Given the description of an element on the screen output the (x, y) to click on. 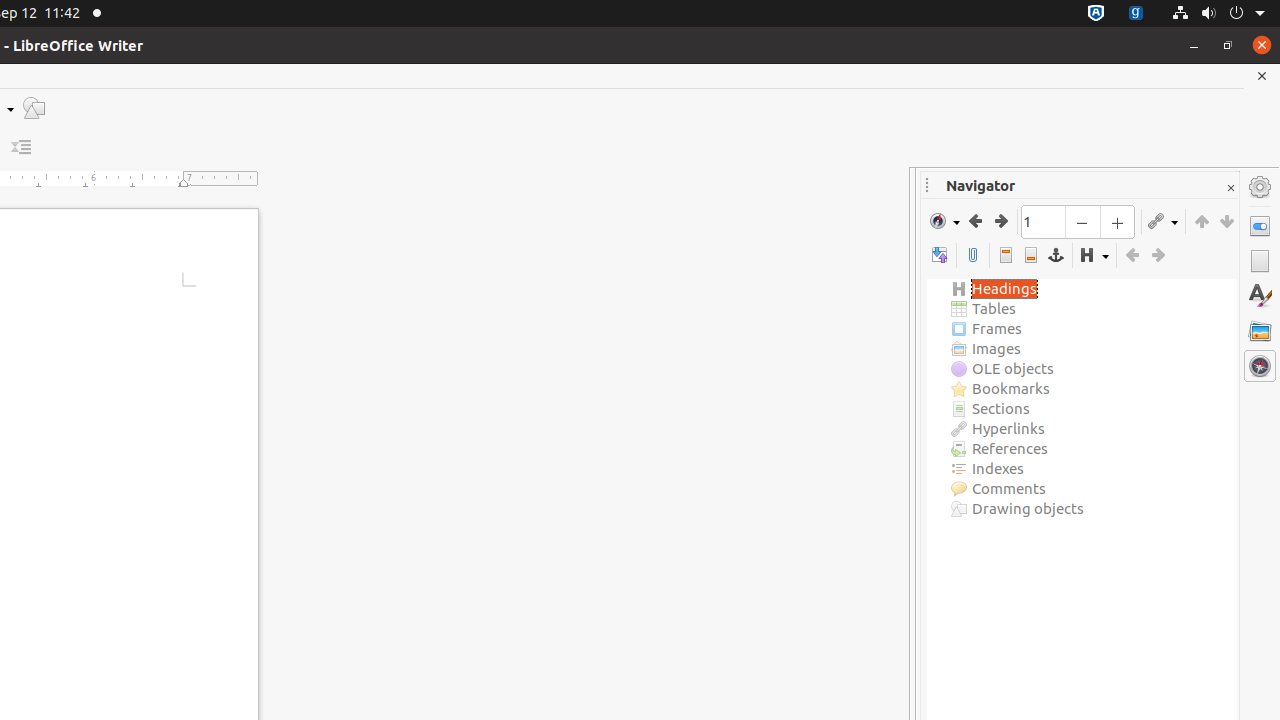
Forward Element type: push-button (1000, 221)
Back Element type: push-button (975, 221)
Header Element type: push-button (1005, 255)
Styles Element type: radio-button (1260, 296)
Demote Chapter Element type: push-button (1226, 221)
